Given the description of an element on the screen output the (x, y) to click on. 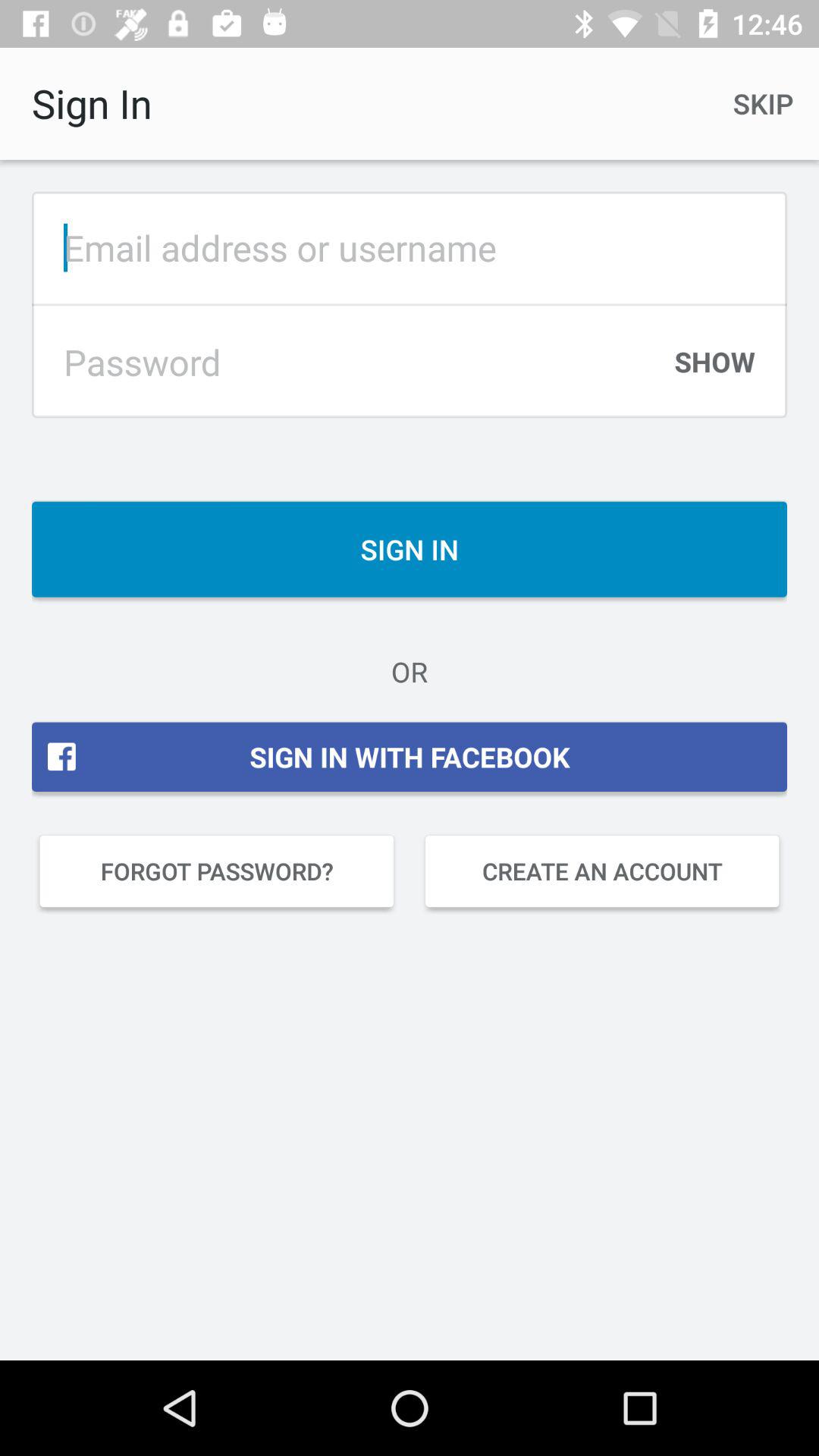
flip until the create an account (602, 871)
